Given the description of an element on the screen output the (x, y) to click on. 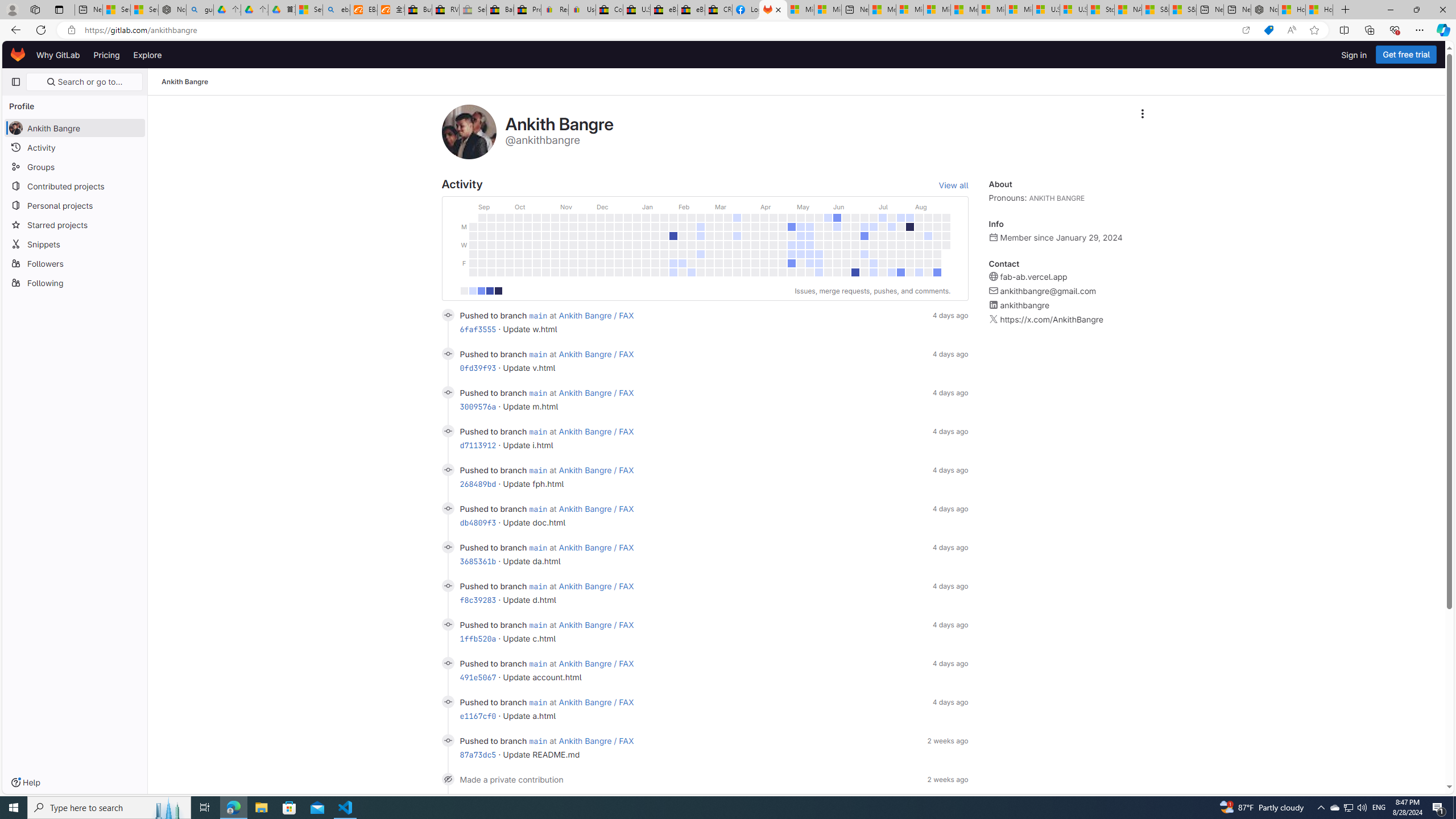
Class: s14 icon (448, 778)
Pricing (106, 54)
ankithbangre (1024, 305)
User profile picture (468, 131)
